Given the description of an element on the screen output the (x, y) to click on. 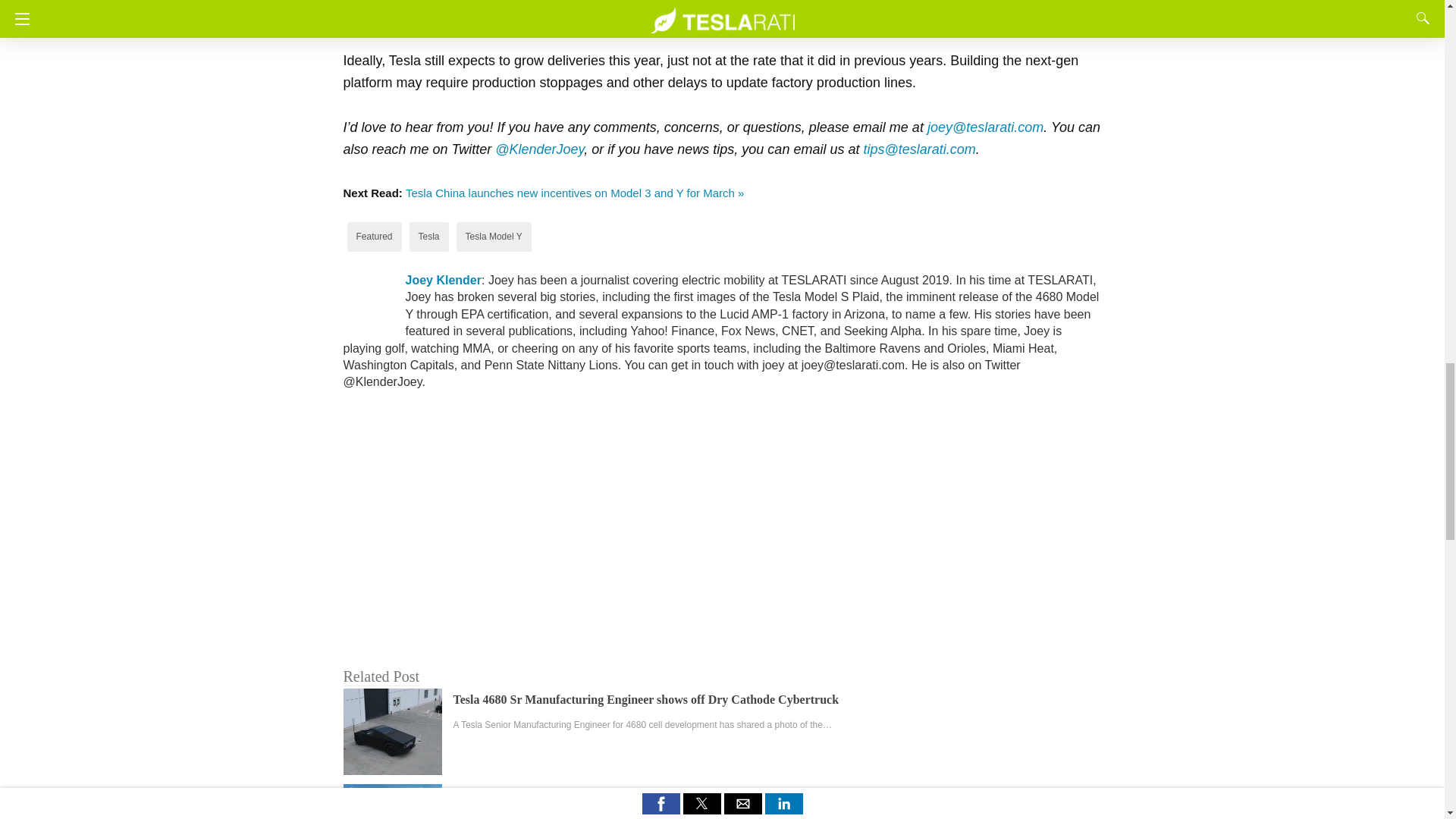
Tesla (429, 235)
Joey Klender (442, 279)
Featured (374, 235)
Tesla Model Y (493, 235)
